Given the description of an element on the screen output the (x, y) to click on. 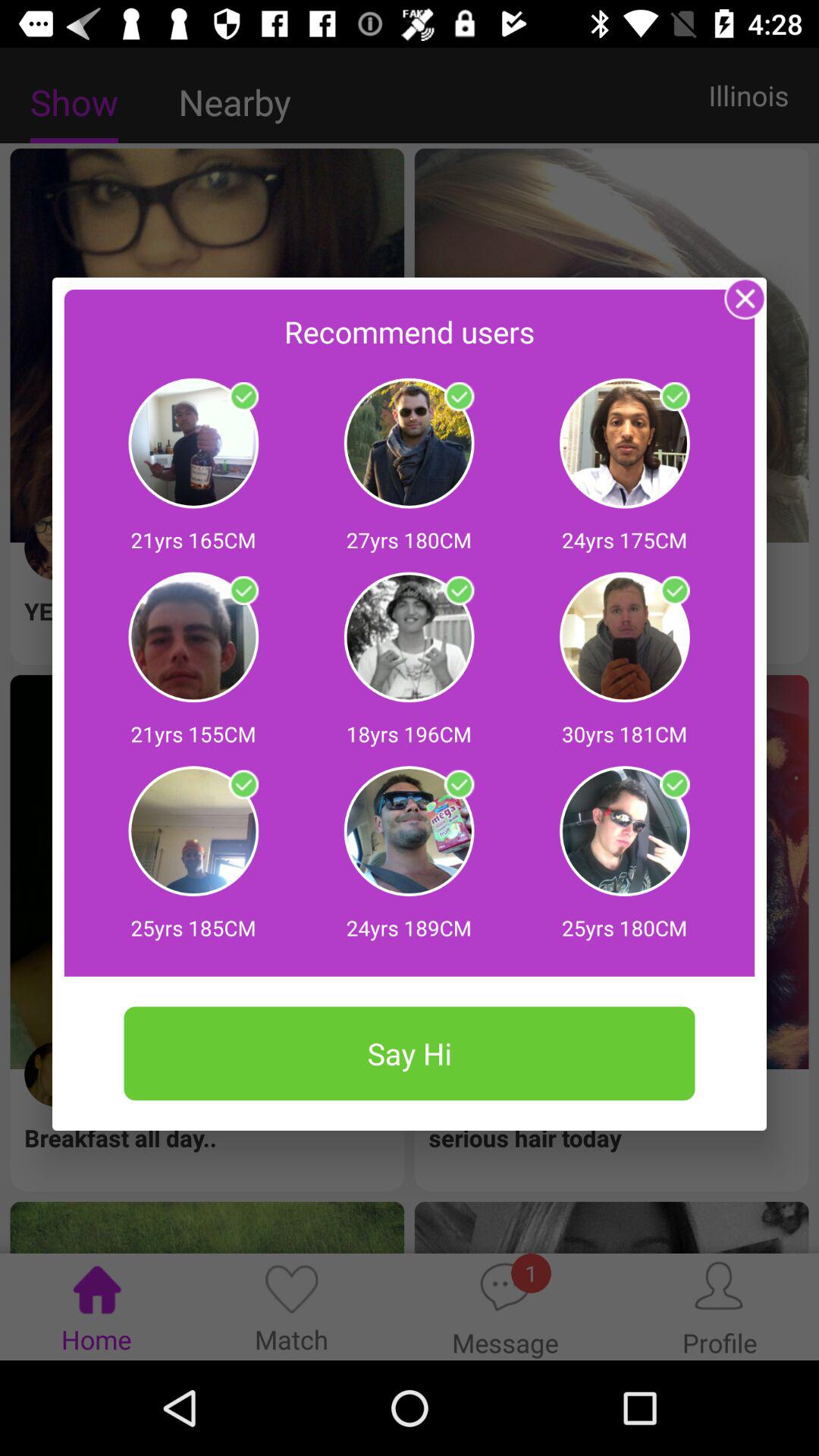
toggle on (459, 590)
